Given the description of an element on the screen output the (x, y) to click on. 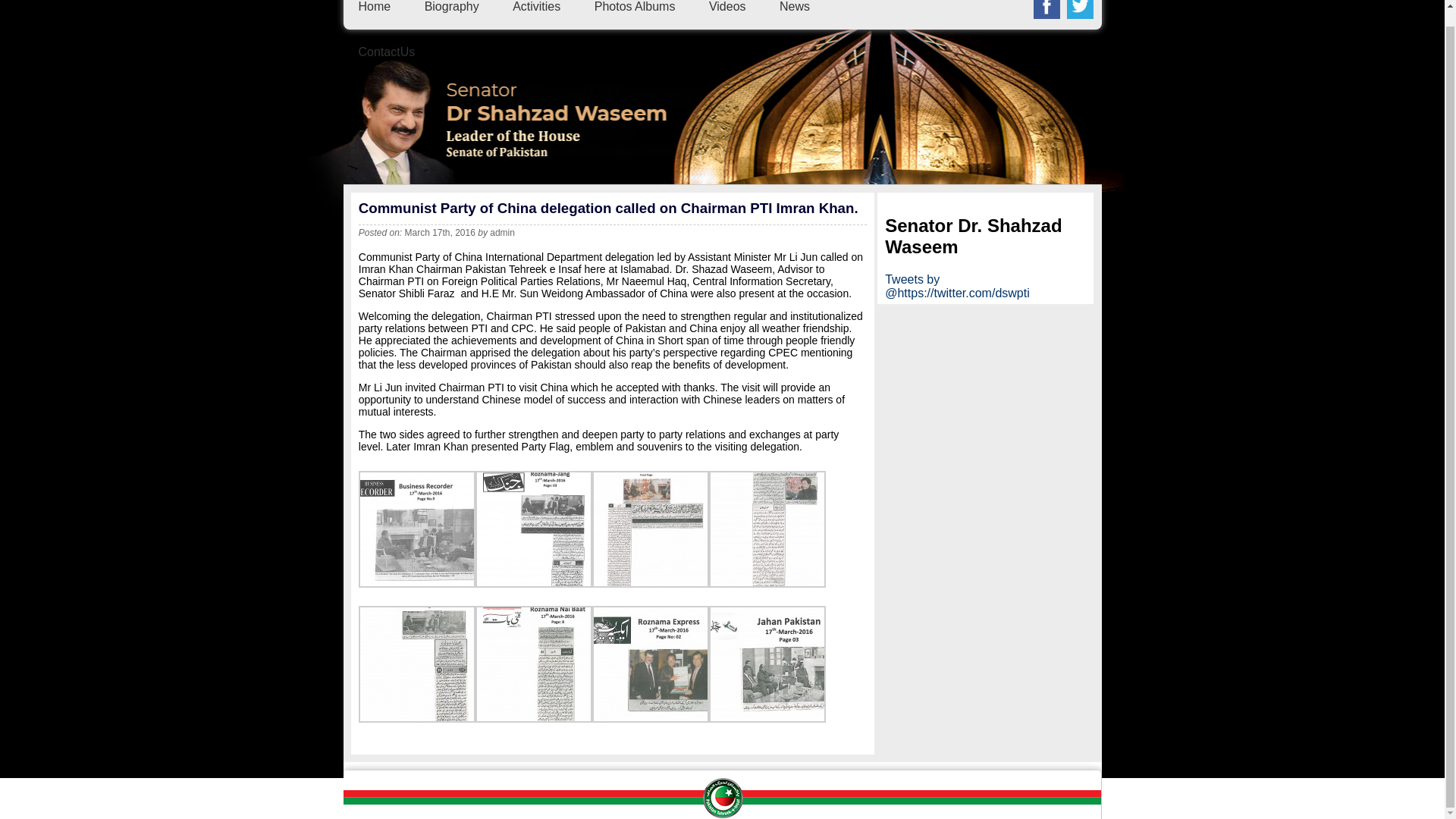
ContactUs (386, 51)
Activities (536, 6)
Photos Albums (634, 6)
Home (374, 6)
News (793, 6)
Biography (452, 6)
Videos (727, 6)
